Given the description of an element on the screen output the (x, y) to click on. 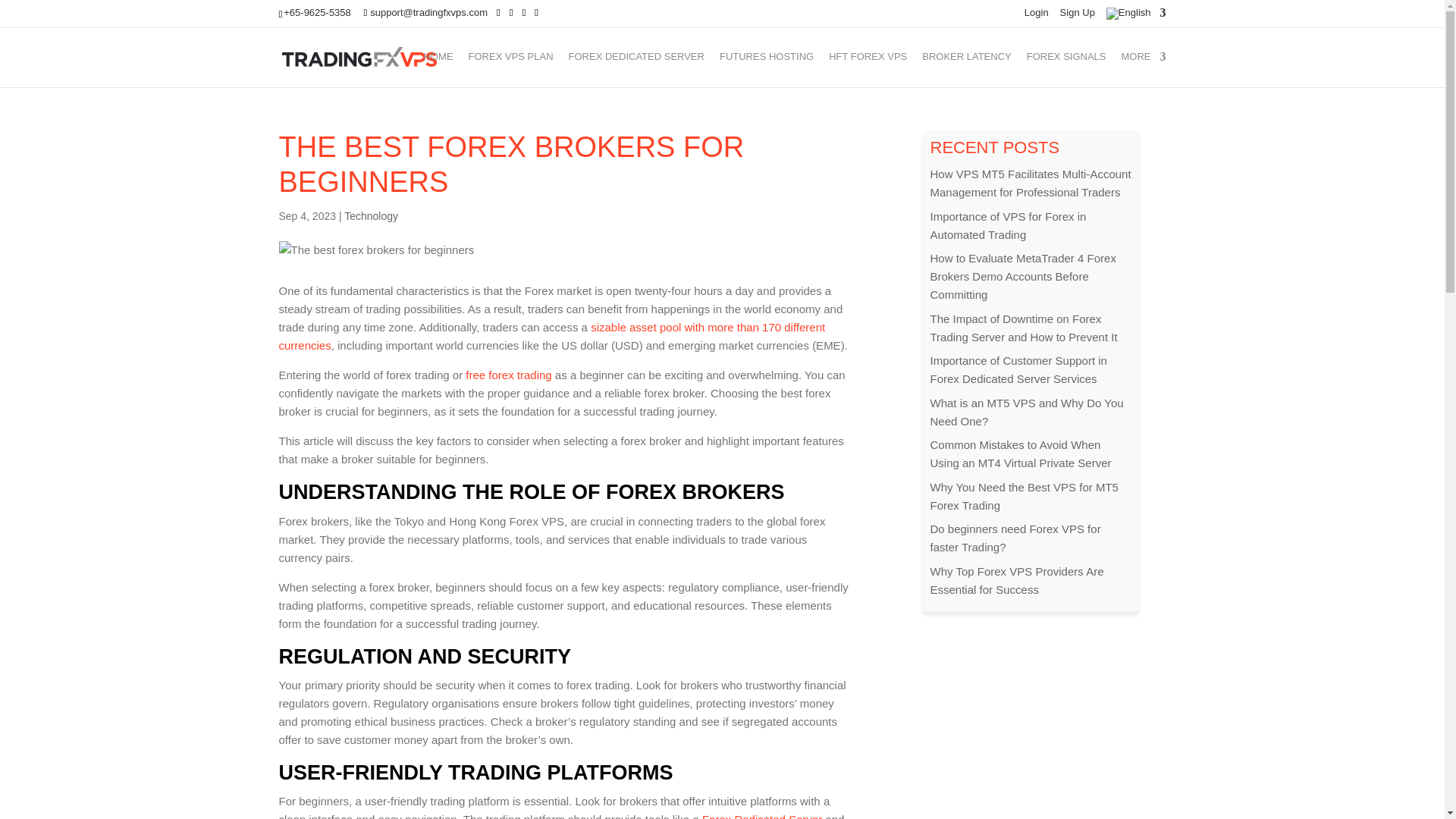
FOREX SIGNALS (1066, 68)
sizable asset pool with more than 170 different currencies (552, 336)
Importance of VPS for Forex in Automated Trading (1008, 224)
Forex Dedicated Server (761, 816)
FOREX VPS PLAN (510, 68)
Login (1036, 16)
Sign Up (1076, 16)
BROKER LATENCY (966, 68)
FOREX DEDICATED SERVER (636, 68)
free forex trading (508, 374)
MORE (1143, 68)
FUTURES HOSTING (766, 68)
